Given the description of an element on the screen output the (x, y) to click on. 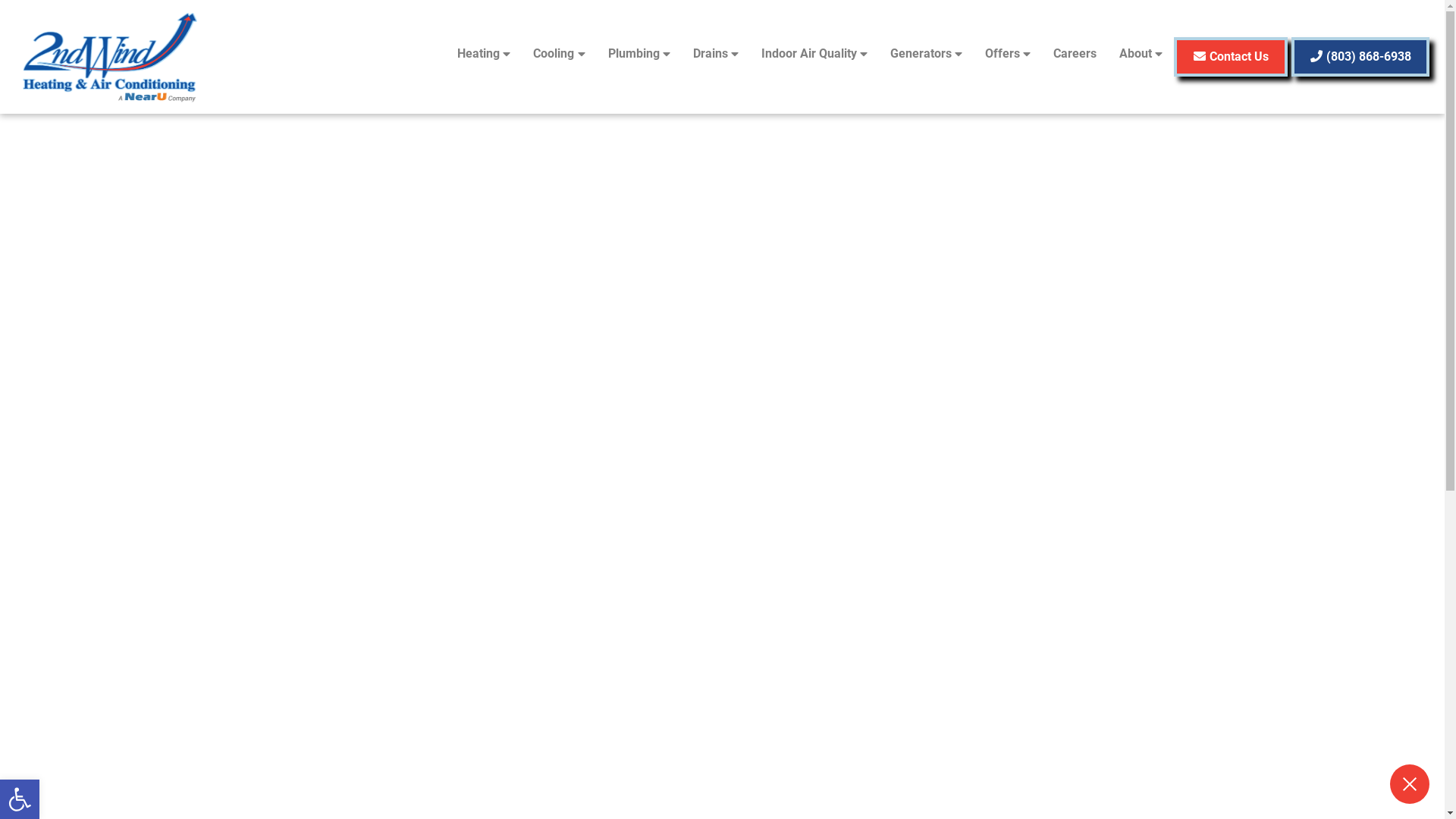
Offers Element type: text (1007, 53)
Drains Element type: text (715, 53)
(803) 868-6938 Element type: text (1360, 56)
Cooling Element type: text (558, 53)
Careers Element type: text (1074, 53)
Generators Element type: text (925, 53)
Plumbing Element type: text (638, 53)
About Element type: text (1140, 53)
Contact Us Element type: text (1230, 56)
Indoor Air Quality Element type: text (813, 53)
Heating Element type: text (483, 53)
